Given the description of an element on the screen output the (x, y) to click on. 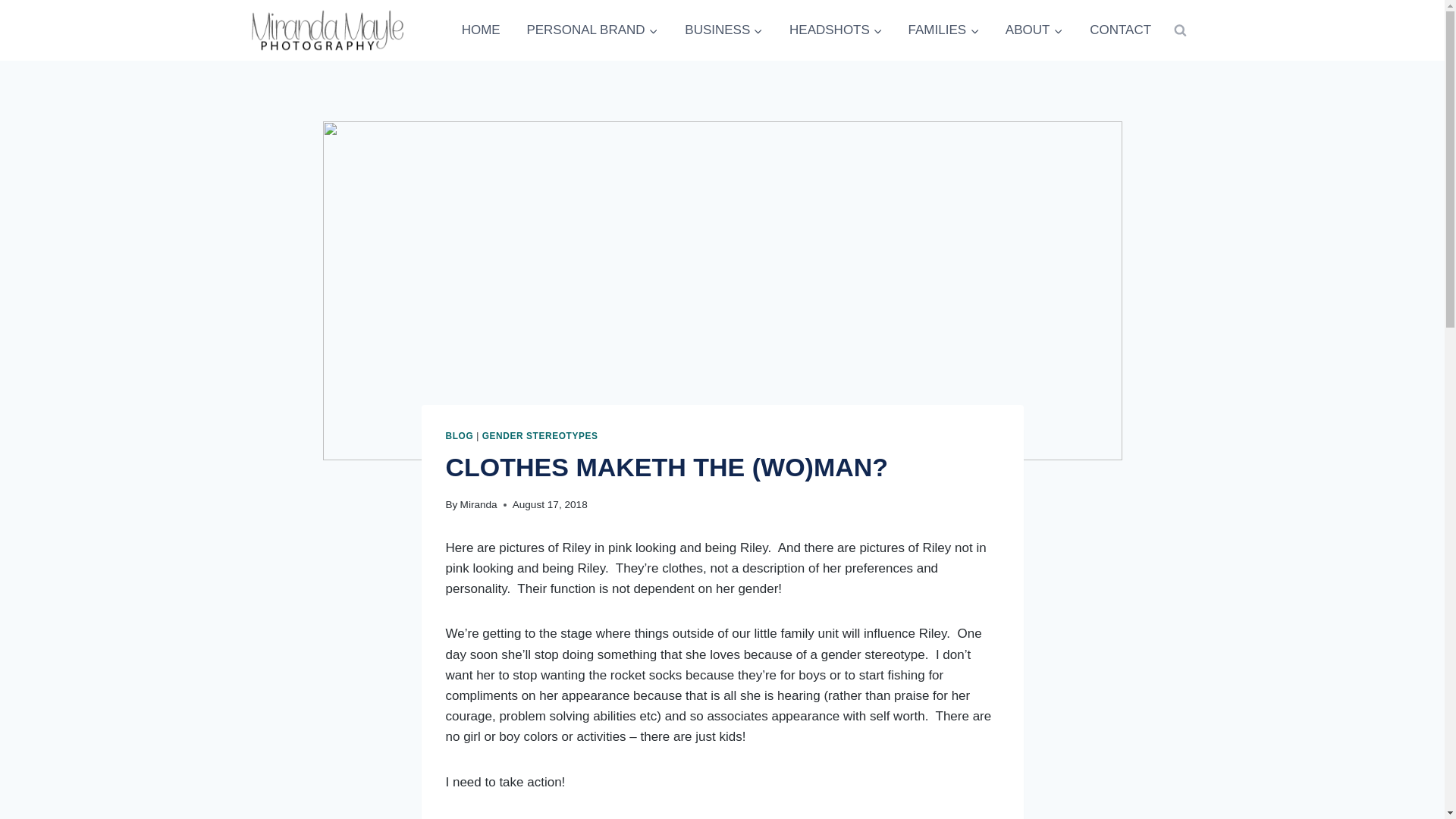
ABOUT (1033, 30)
Miranda (478, 504)
GENDER STEREOTYPES (539, 435)
CONTACT (1120, 30)
BLOG (459, 435)
BUSINESS (723, 30)
HEADSHOTS (835, 30)
FAMILIES (943, 30)
HOME (480, 30)
PERSONAL BRAND (592, 30)
